Given the description of an element on the screen output the (x, y) to click on. 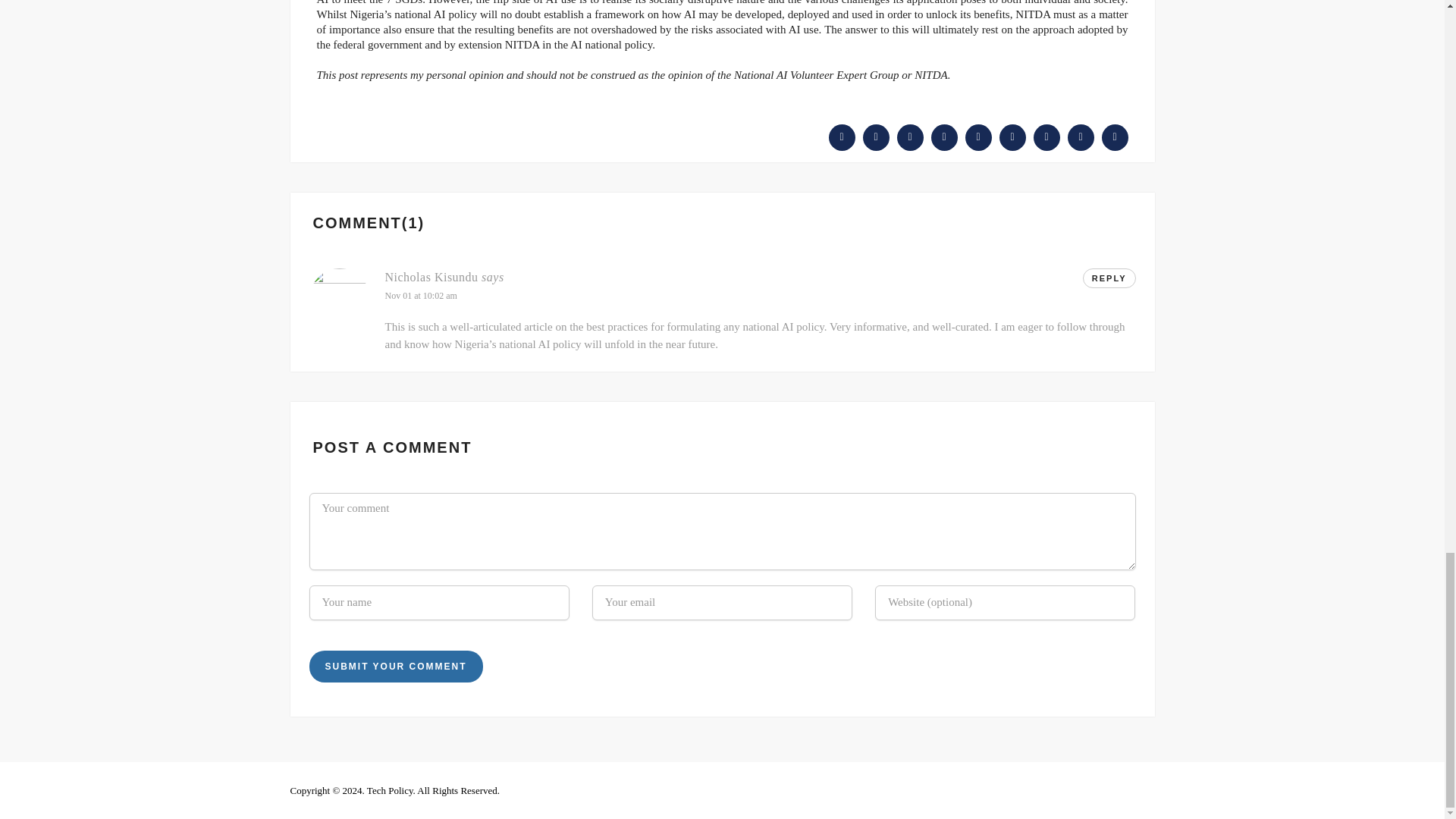
REPLY (1109, 277)
Pin it (977, 136)
Submit to Reddit (1012, 136)
Submit your comment (395, 666)
Tweet (876, 136)
Email (1080, 136)
Submit your comment (395, 666)
Share on vk (1113, 136)
Share on Facebook (841, 136)
Share on Linkedin (1045, 136)
Post to Tumblr (944, 136)
